Given the description of an element on the screen output the (x, y) to click on. 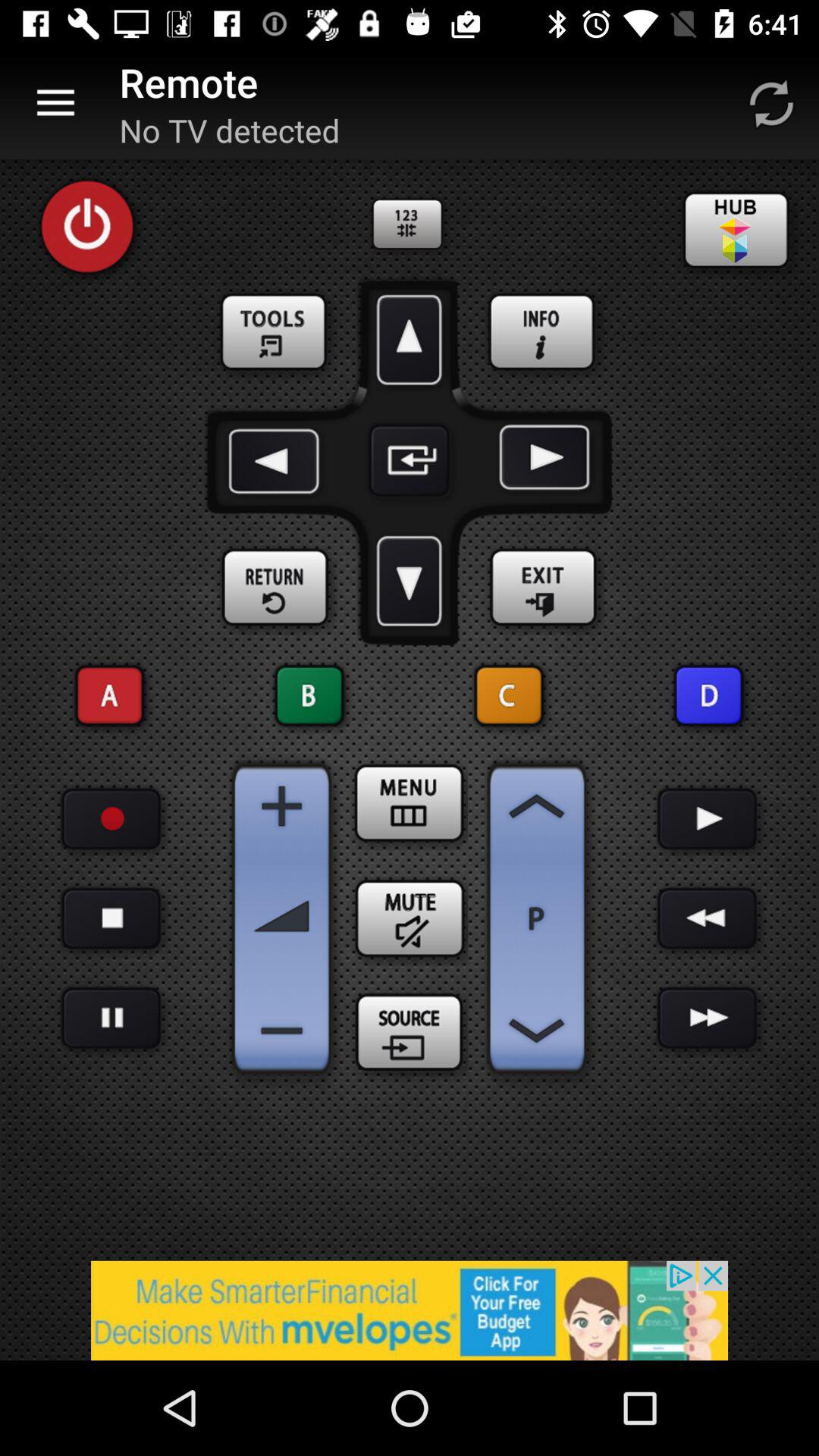
power on (87, 226)
